Given the description of an element on the screen output the (x, y) to click on. 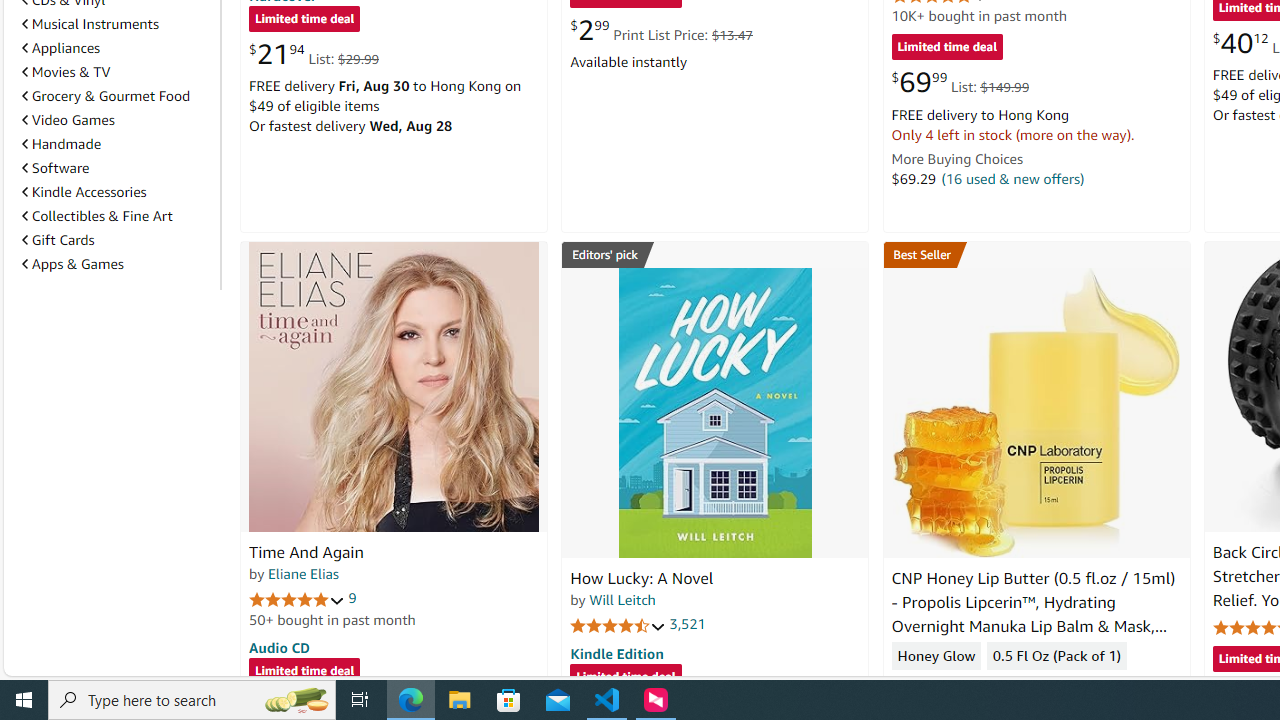
Movies & TV (66, 71)
Editors' pick Best Mystery, Thriller & Suspense (715, 254)
Limited time deal (625, 678)
Apps & Games (72, 263)
Collectibles & Fine Art (117, 215)
9 (352, 597)
Kindle Accessories (117, 192)
Appliances (61, 47)
Video Games (68, 119)
Collectibles & Fine Art (96, 215)
Kindle Edition (616, 653)
$21.94 List: $29.99 (314, 54)
Movies & TV (117, 71)
